Given the description of an element on the screen output the (x, y) to click on. 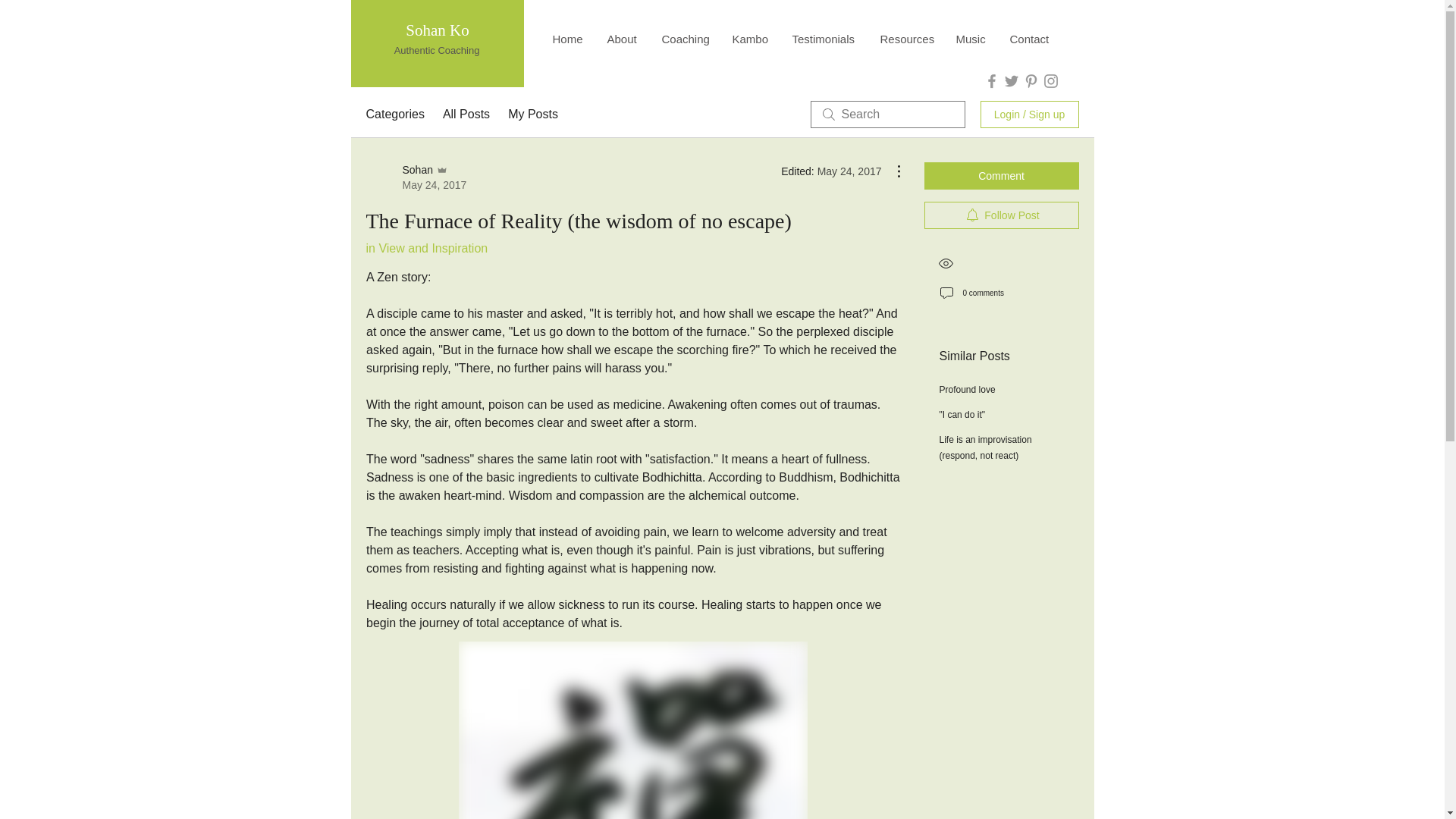
in View and Inspiration (426, 247)
Contact (1028, 38)
Categories (394, 114)
My Posts (532, 114)
Testimonials (824, 38)
Coaching (685, 38)
Follow Post (1000, 215)
Sohan Ko (437, 30)
"I can do it" (962, 414)
Kambo (750, 38)
